Given the description of an element on the screen output the (x, y) to click on. 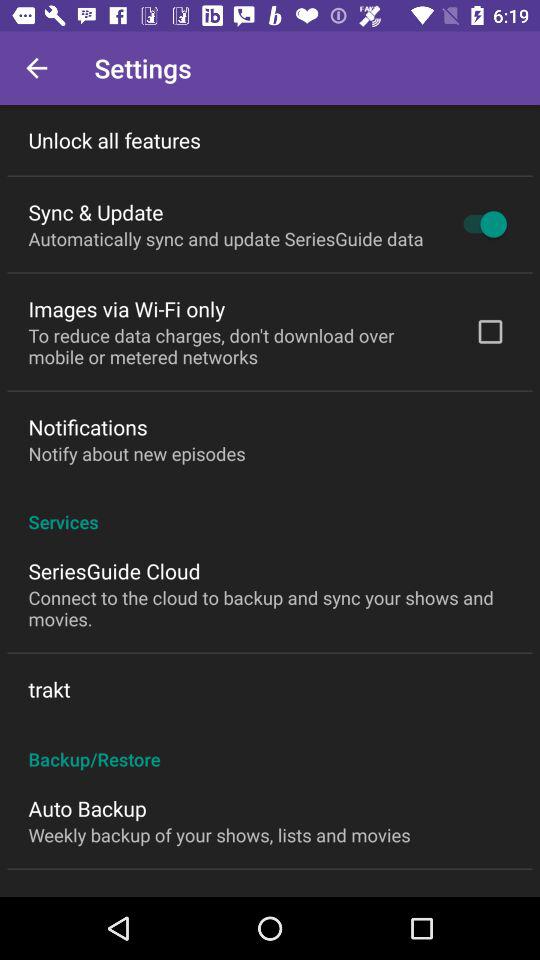
open the item below the images via wi (238, 346)
